Given the description of an element on the screen output the (x, y) to click on. 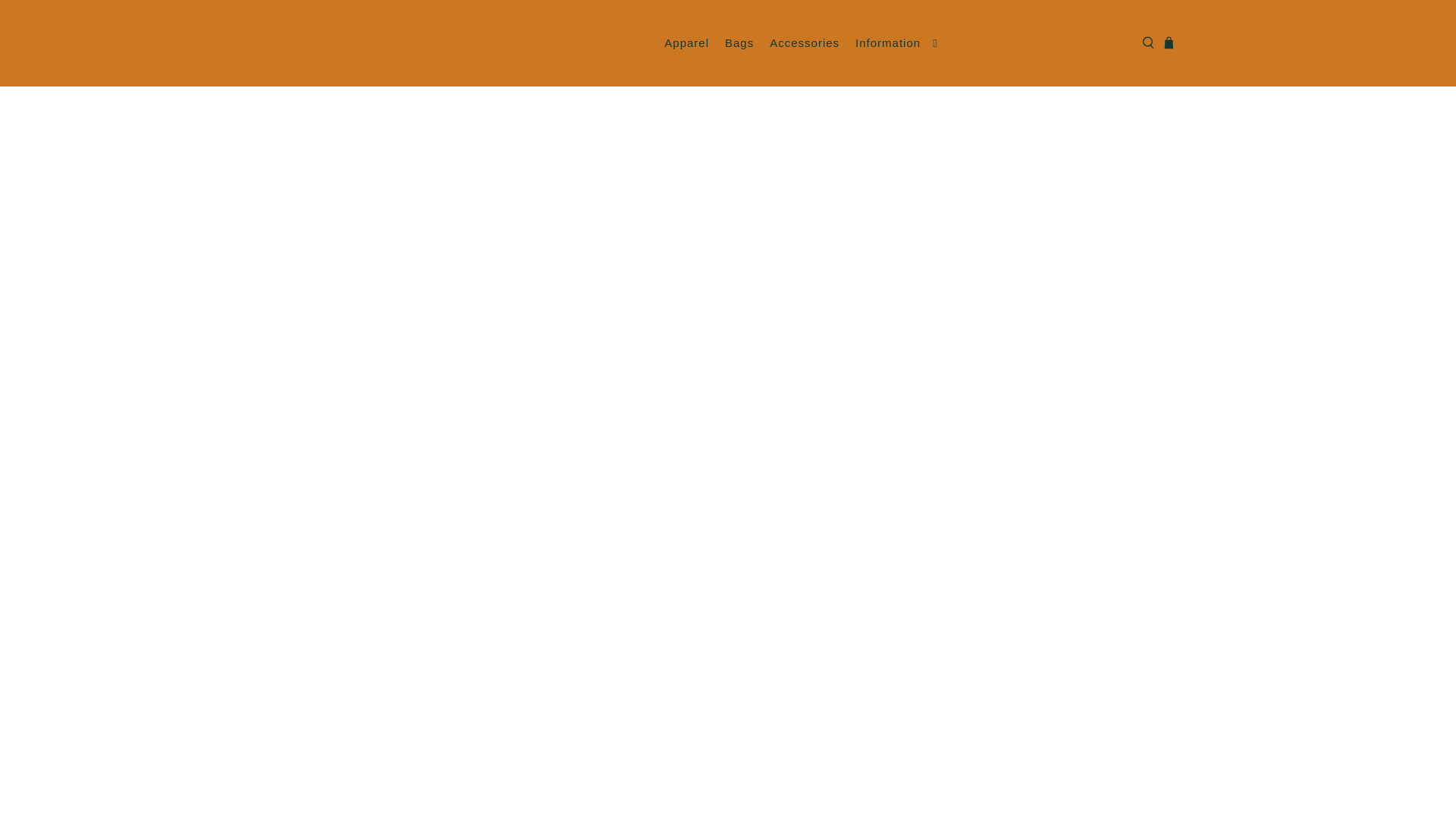
Bags (739, 43)
Accessories (804, 43)
Information (898, 43)
Apparel (686, 43)
